Given the description of an element on the screen output the (x, y) to click on. 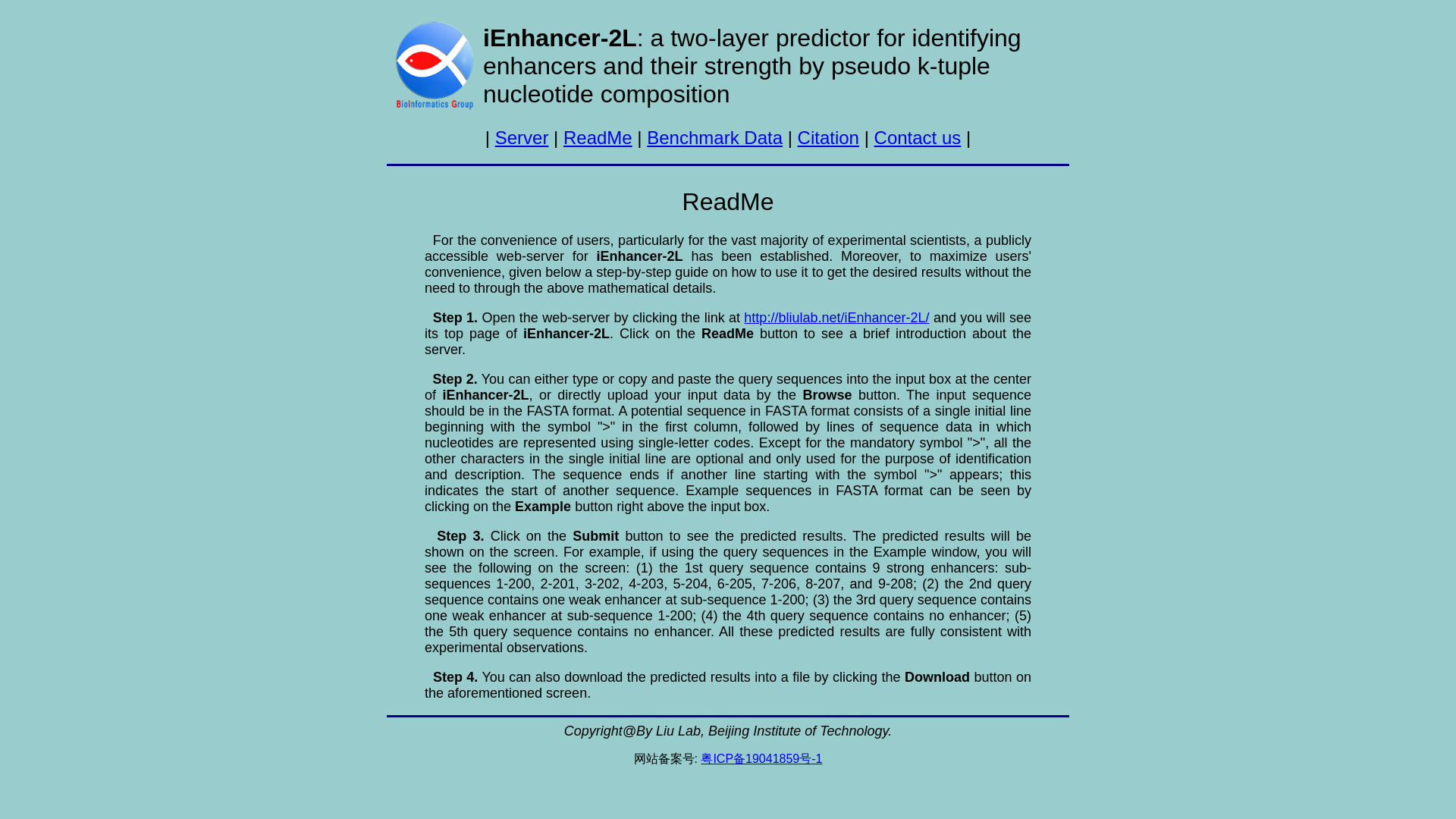
Citation (828, 137)
Benchmark Data (714, 137)
ReadMe (597, 137)
Server (521, 137)
Contact us (917, 137)
